Given the description of an element on the screen output the (x, y) to click on. 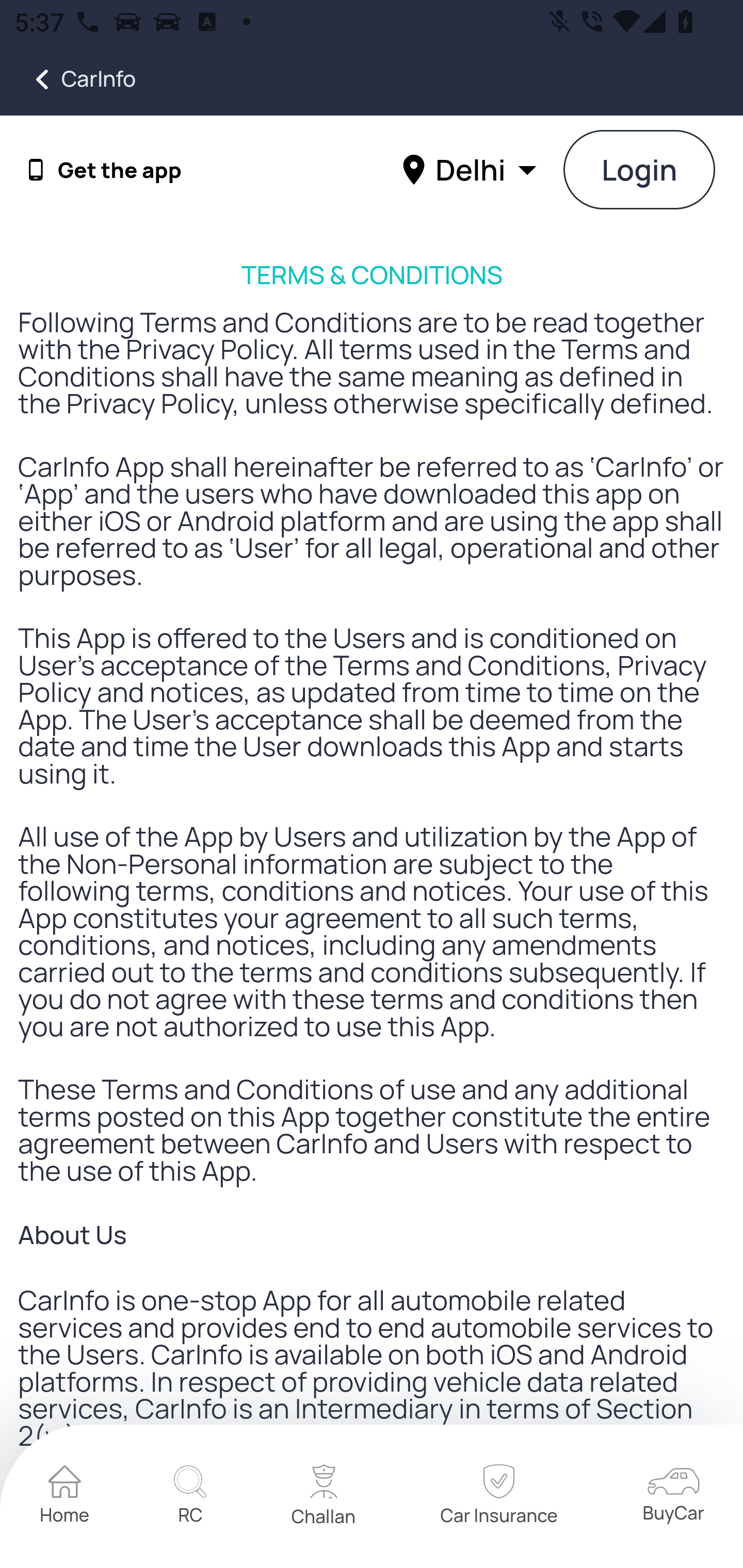
CarInfo (67, 79)
Login (639, 170)
Delhi (471, 169)
Get the app (119, 170)
home Challan home Challan (323, 1496)
home Home home Home (64, 1496)
home RC home RC (190, 1496)
home Car Insurance home Car Insurance (497, 1497)
home BuyCar home BuyCar (672, 1496)
